Given the description of an element on the screen output the (x, y) to click on. 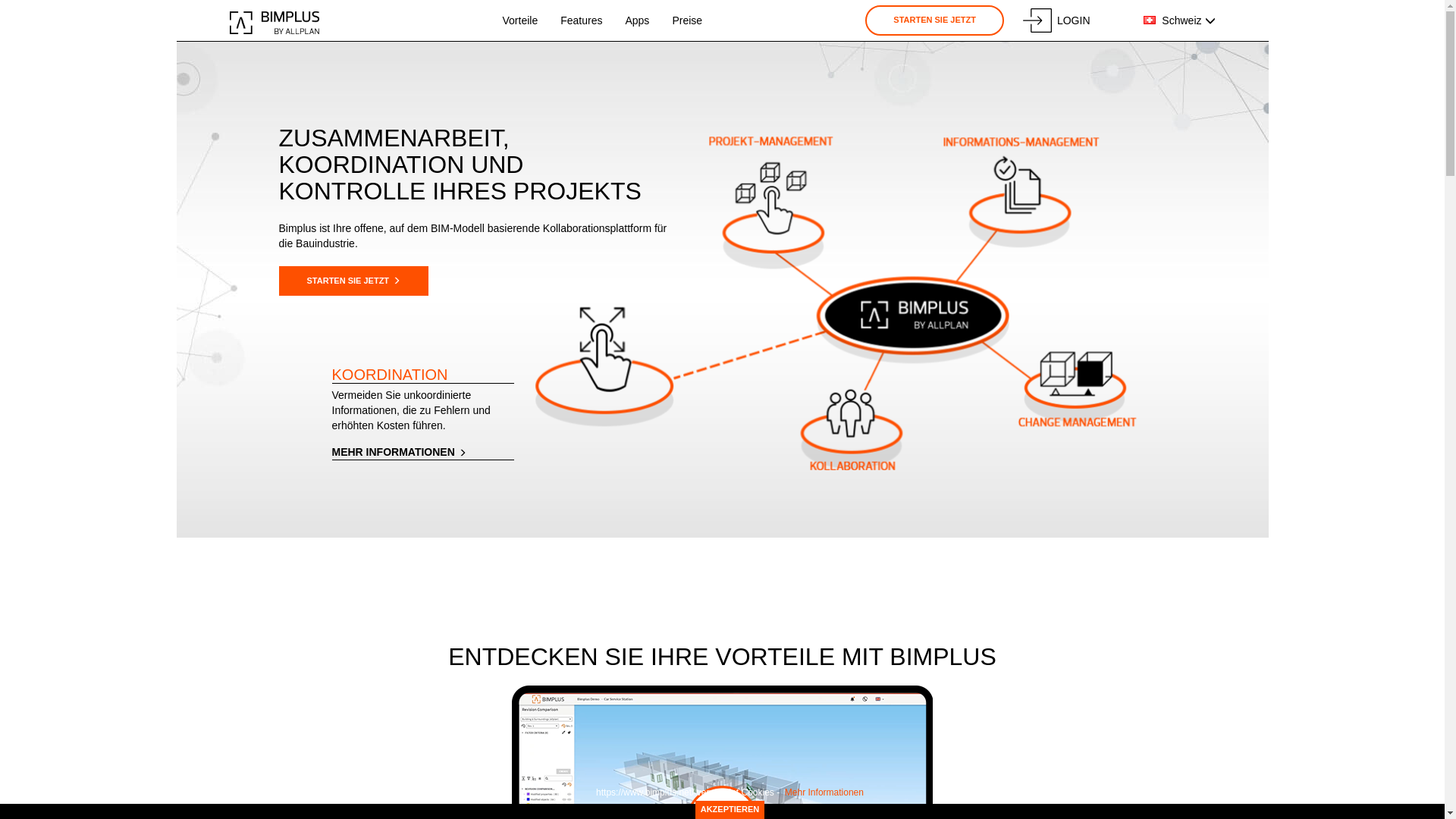
MEHR INFORMATIONEN Element type: text (423, 452)
Apps Element type: text (636, 20)
Vorteile Element type: text (520, 20)
Home Element type: hover (275, 22)
STARTEN SIE JETZT Element type: text (934, 20)
Schweiz Element type: text (1178, 20)
STARTEN SIE JETZT Element type: text (354, 281)
Features Element type: text (581, 20)
Mehr Informationen Element type: text (823, 792)
Preise Element type: text (686, 20)
LOGIN Element type: text (1056, 20)
